Given the description of an element on the screen output the (x, y) to click on. 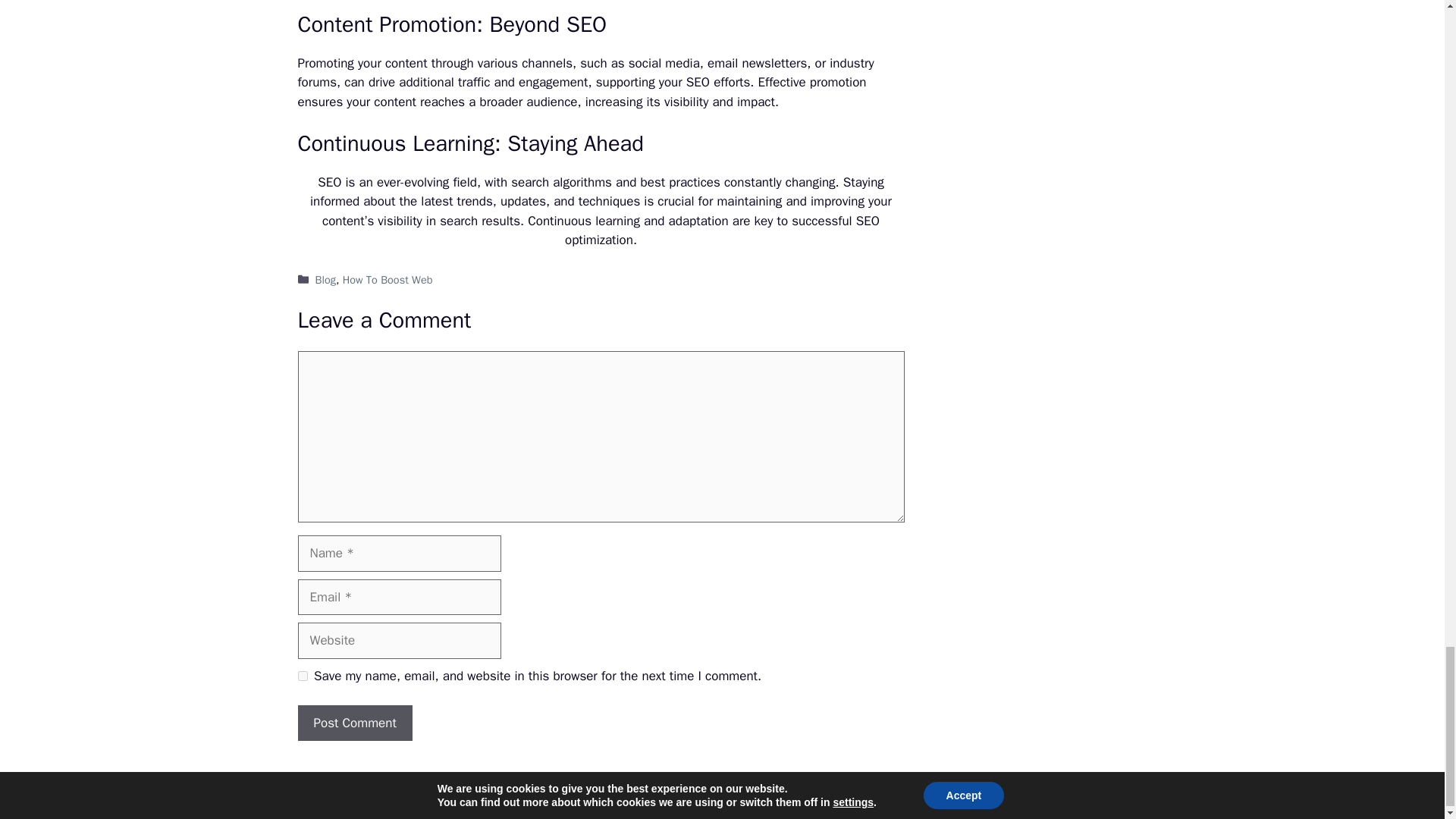
How To Boost Web (387, 279)
Post Comment (354, 723)
Post Comment (354, 723)
Blog (325, 279)
yes (302, 675)
audience, increasing (585, 101)
